Given the description of an element on the screen output the (x, y) to click on. 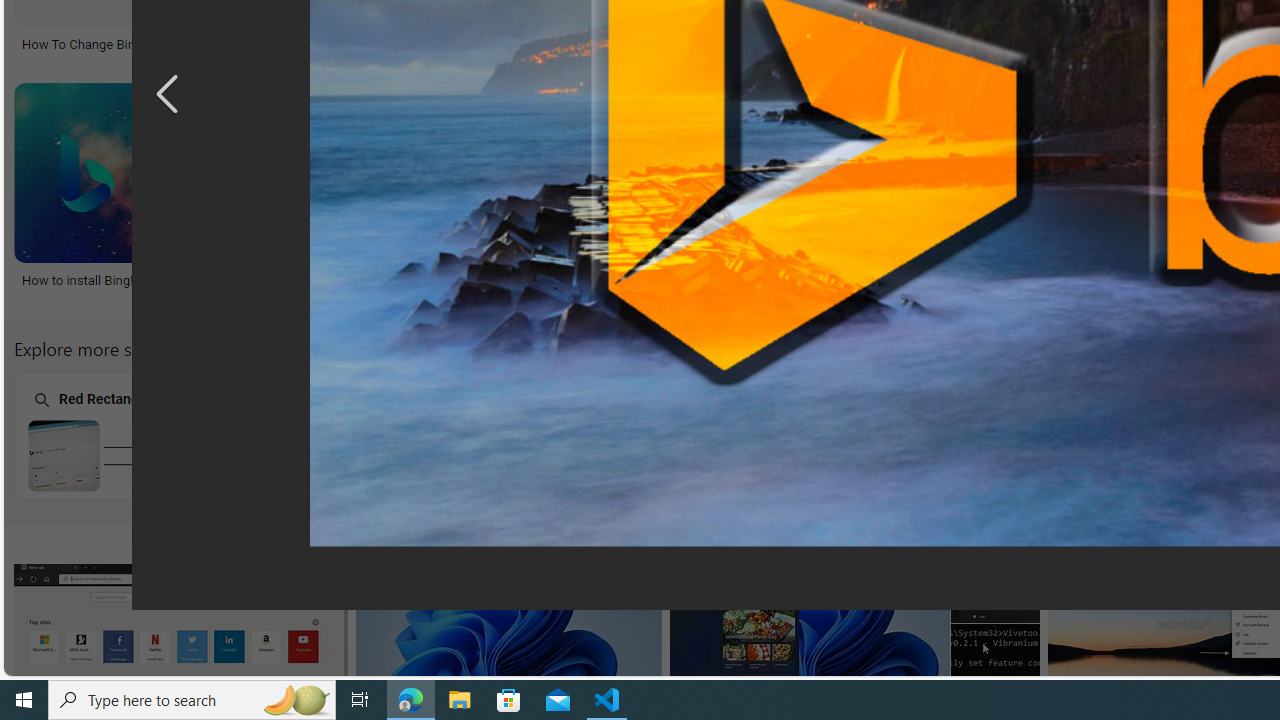
Image result for Bing Search Bar Install (995, 668)
Bing Search Bar Special Characters Special Characters (395, 435)
How to install Bing! (162, 279)
Install Bing In Windows 10 - Image to u (440, 279)
How to Use Bing Visual Search on Windows Search Bar (766, 287)
Install Bing In Windows 10 - Image to uSave (488, 196)
How to Use Bing Visual Search on Windows Search BarSave (771, 196)
How to install Bing!Save (167, 196)
How to install Bing! (77, 279)
Home Screen (907, 435)
How To Change Bing Search Bar To Google Windows 10 (182, 44)
How to Use Bing Visual Search on Windows Search Bar (766, 287)
